Given the description of an element on the screen output the (x, y) to click on. 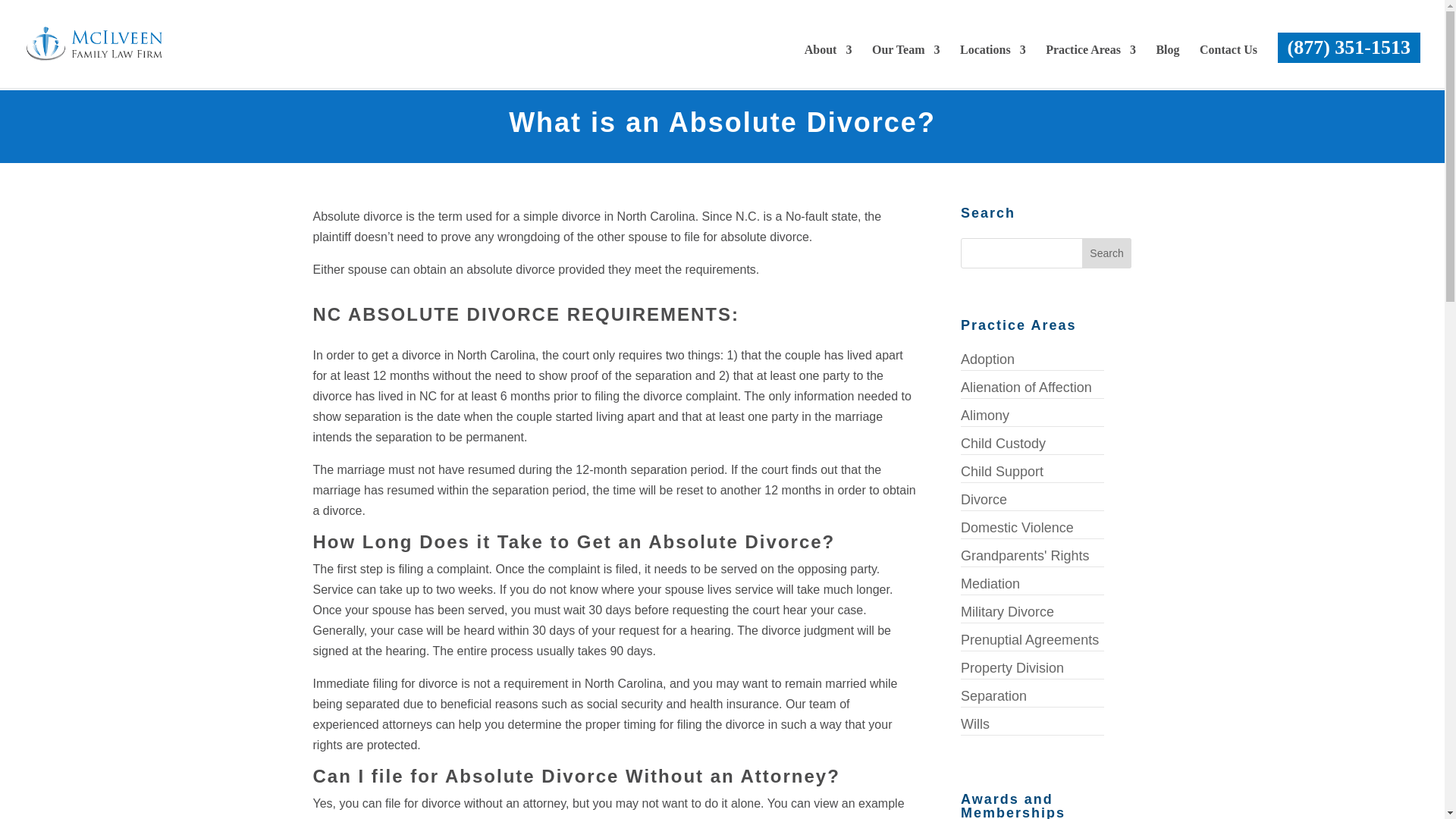
Locations (992, 62)
Practice Areas (1090, 62)
Our Team (906, 62)
About (828, 62)
Search (1106, 253)
Contact Us (1228, 62)
